Given the description of an element on the screen output the (x, y) to click on. 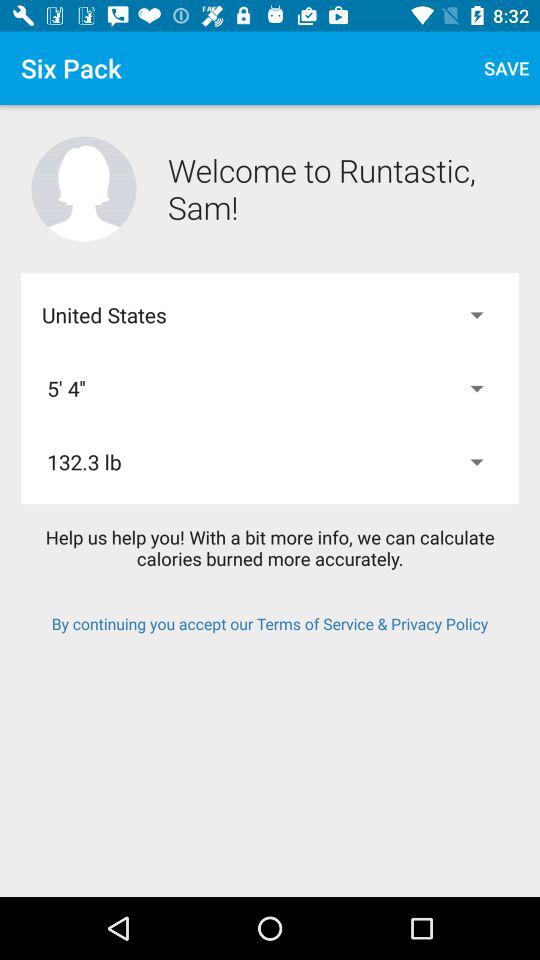
press the item below the help us help item (270, 623)
